Given the description of an element on the screen output the (x, y) to click on. 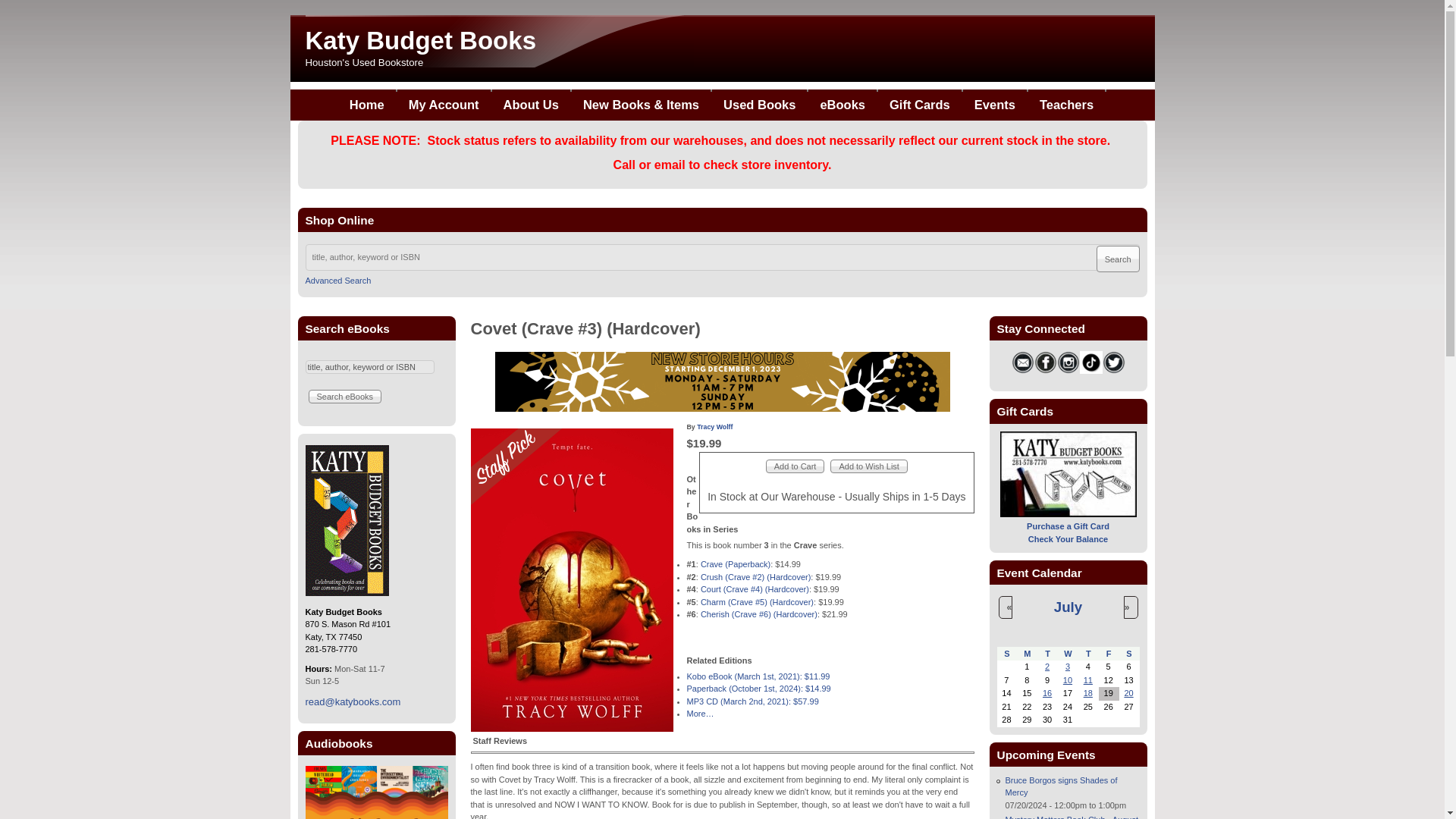
Search eBooks (344, 396)
Home (366, 104)
eBooks (842, 104)
Search (1118, 258)
Gift Cards (918, 104)
About Us (531, 104)
Home page (419, 40)
Katy Budget Books (419, 40)
Used Books (758, 104)
Add to Cart (795, 466)
Events (994, 104)
My Account (443, 104)
title, author, keyword or ISBN (368, 366)
Add to Wish List (868, 466)
